Given the description of an element on the screen output the (x, y) to click on. 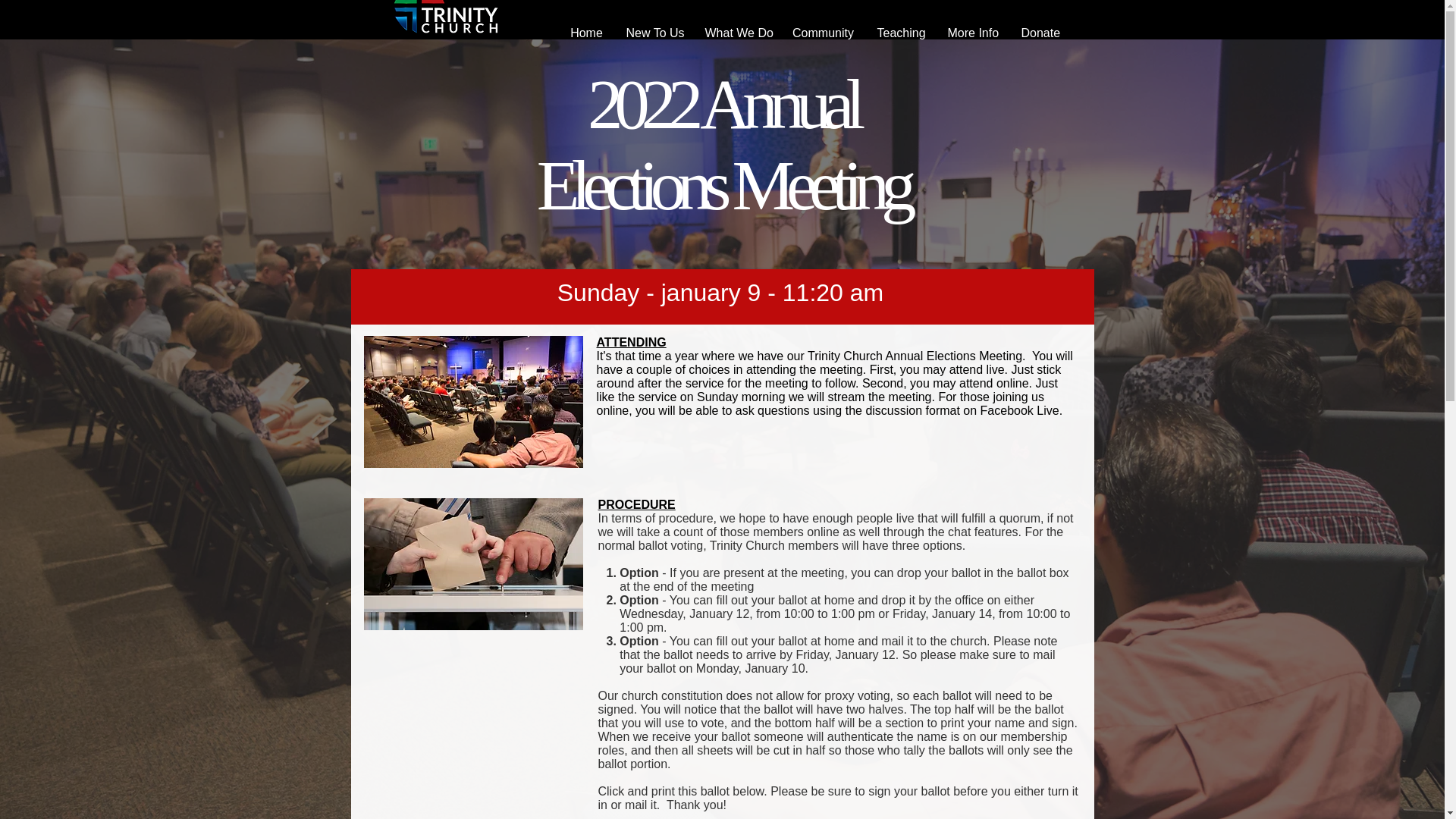
What We Do (736, 32)
Home (585, 32)
Donate (1040, 32)
New To Us (653, 32)
Community (823, 32)
